Given the description of an element on the screen output the (x, y) to click on. 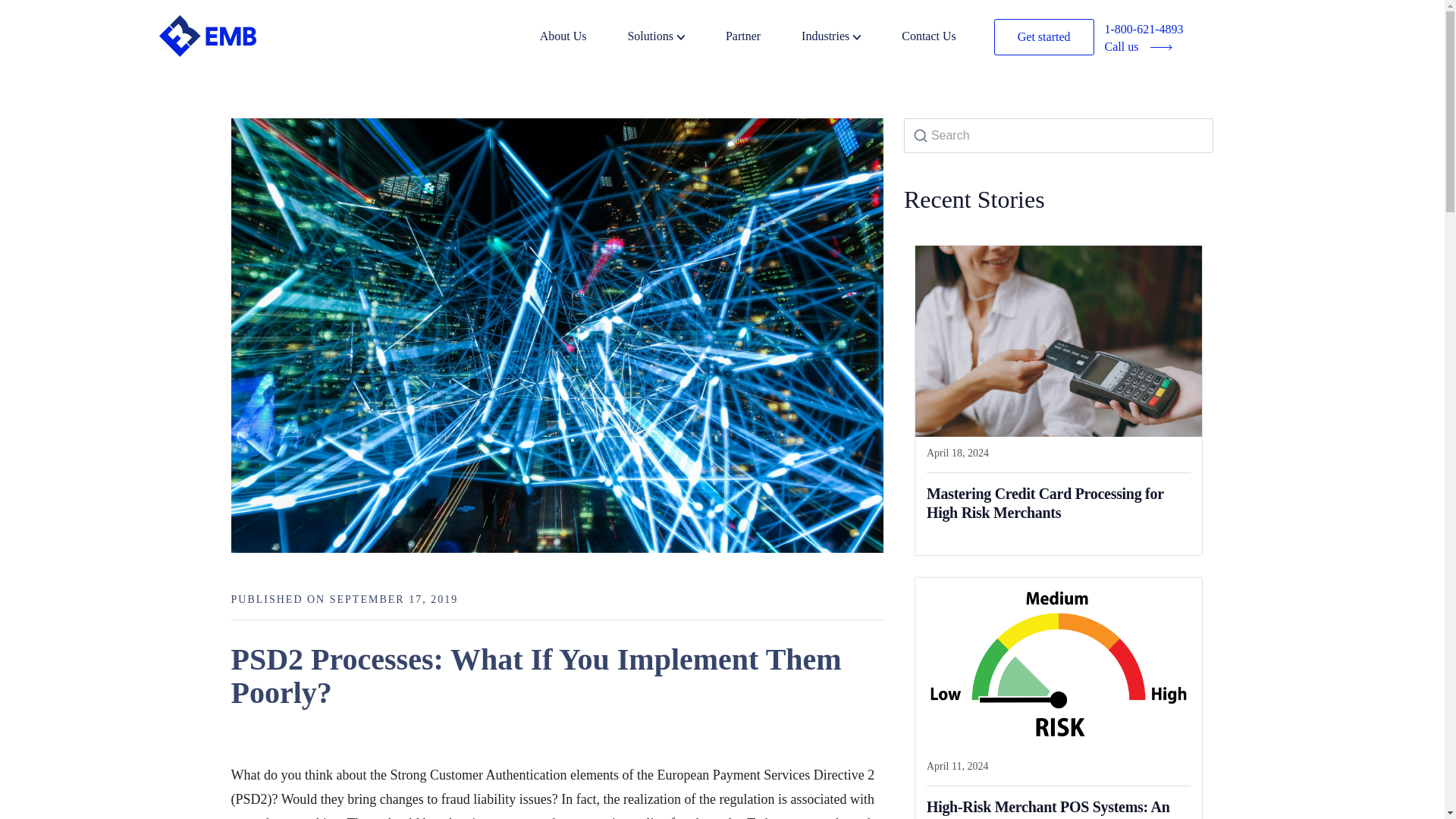
Industries (850, 37)
Partner (761, 37)
About Us (582, 37)
Solutions (674, 37)
